Given the description of an element on the screen output the (x, y) to click on. 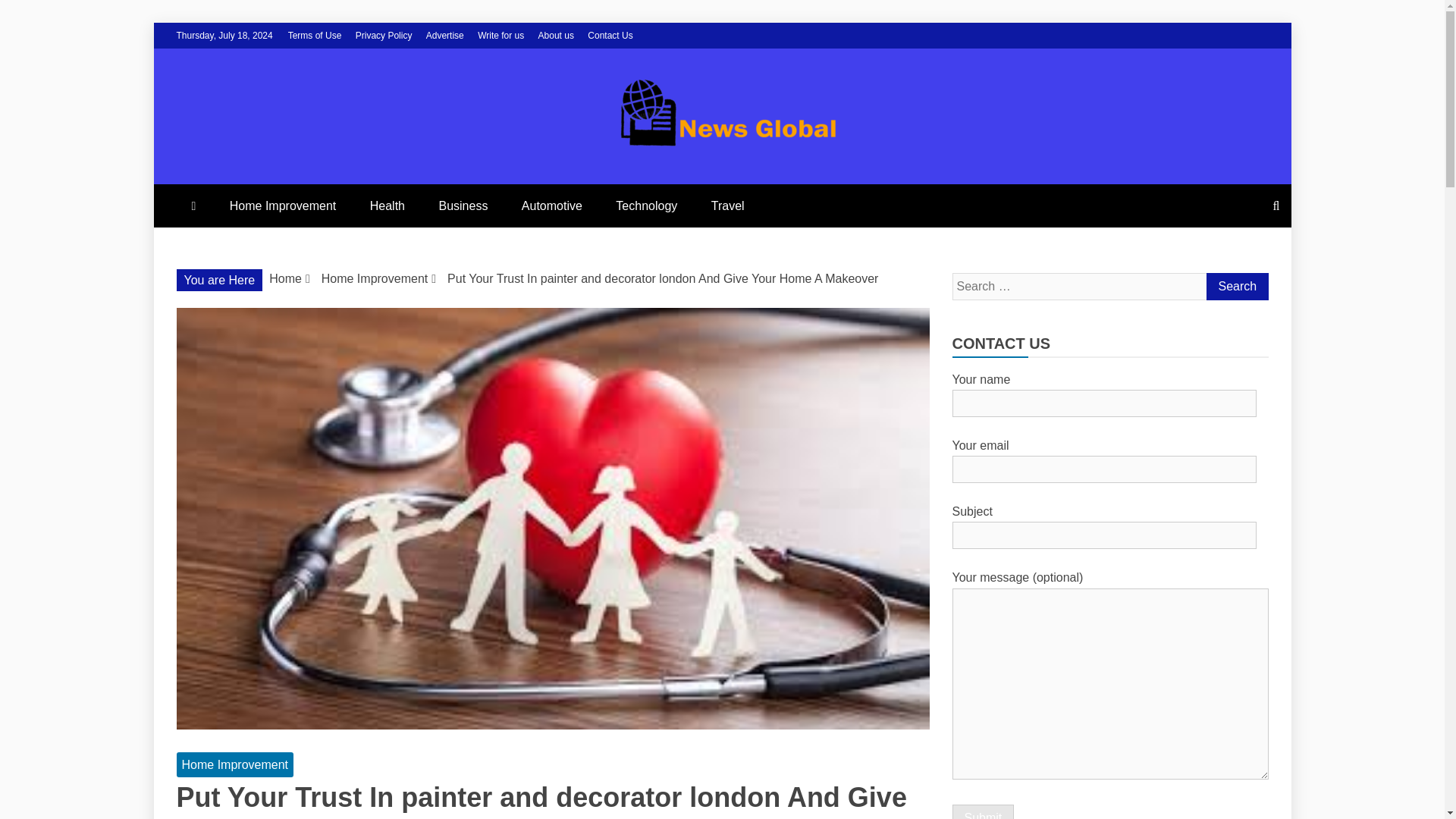
Automotive (551, 205)
Privacy Policy (383, 35)
Travel (727, 205)
Search (1236, 286)
Contact Us (609, 35)
Home Improvement (235, 764)
About us (555, 35)
Search (1236, 286)
Write for us (500, 35)
Home (285, 278)
Technology (646, 205)
Business (462, 205)
Home Improvement (283, 205)
Submit (983, 811)
